Given the description of an element on the screen output the (x, y) to click on. 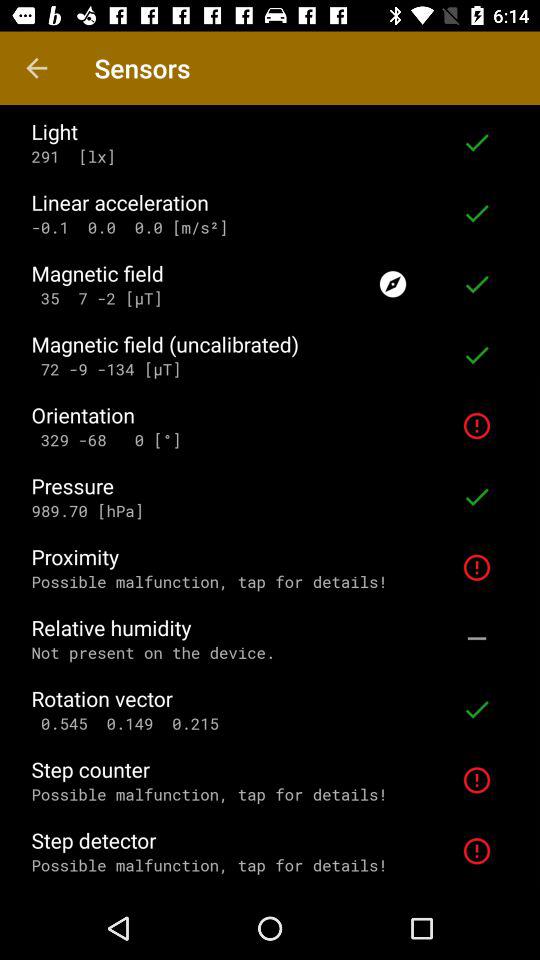
view compass (393, 283)
